Given the description of an element on the screen output the (x, y) to click on. 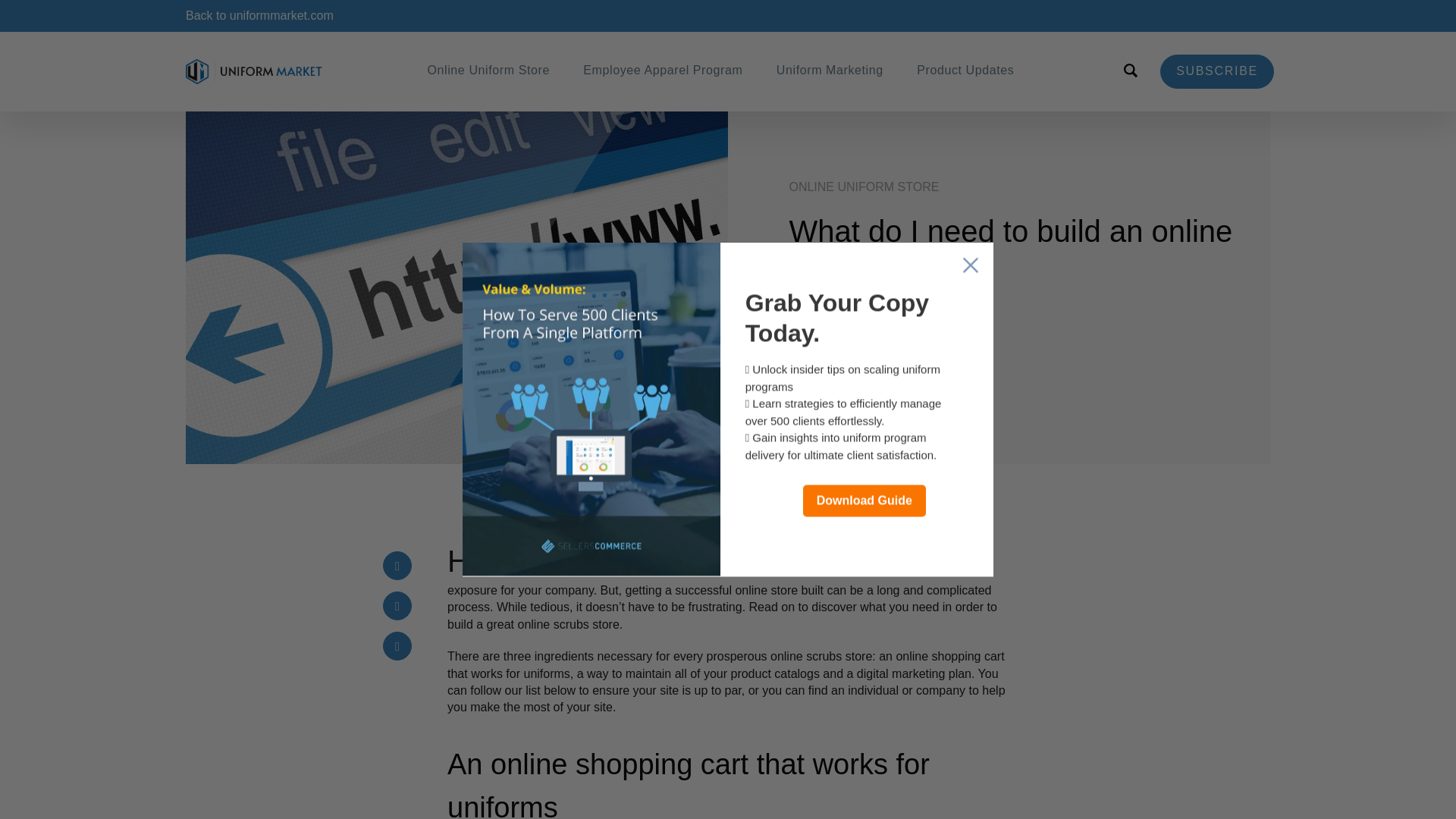
um-brandlogo (253, 71)
Online Uniform Store (488, 70)
ONLINE UNIFORM STORE (864, 186)
Product Updates (965, 70)
Share on facebook (397, 565)
Back to uniformmarket.com (259, 15)
Employee Apparel Program (662, 70)
scrubs catalogs (846, 339)
Share on Twitter (397, 605)
Uniform Marketing (829, 70)
SUBSCRIBE (1217, 70)
Share on LinkedIn (397, 645)
